Given the description of an element on the screen output the (x, y) to click on. 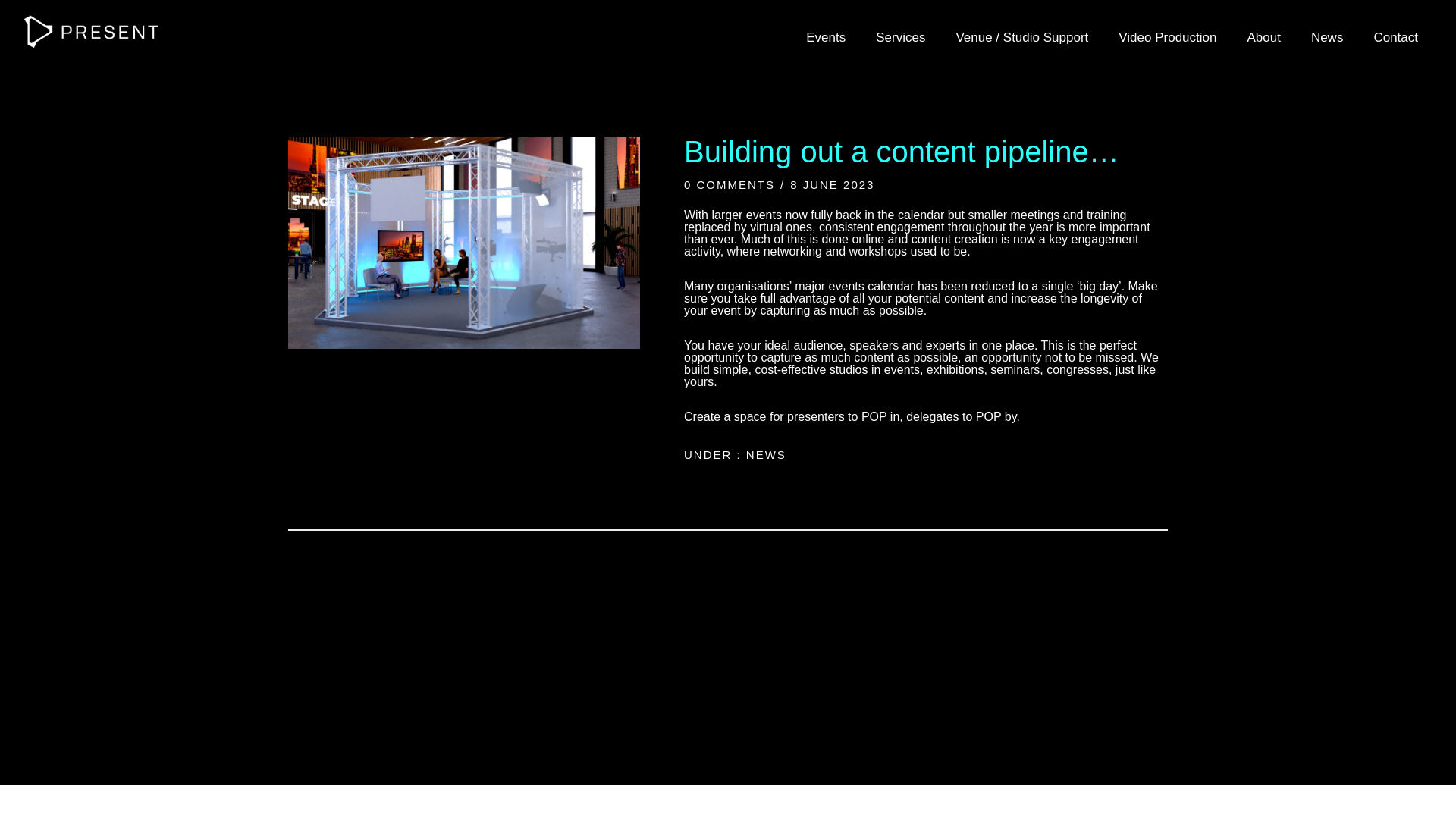
Video Production (1167, 37)
Contact (1395, 37)
Events (825, 37)
News (1326, 37)
About (1263, 37)
Services (900, 37)
Services (900, 37)
News (1326, 37)
Contact (1395, 37)
Video Production (1167, 37)
NEWS (763, 454)
Events (825, 37)
About (1263, 37)
0 COMMENTS (729, 184)
